Given the description of an element on the screen output the (x, y) to click on. 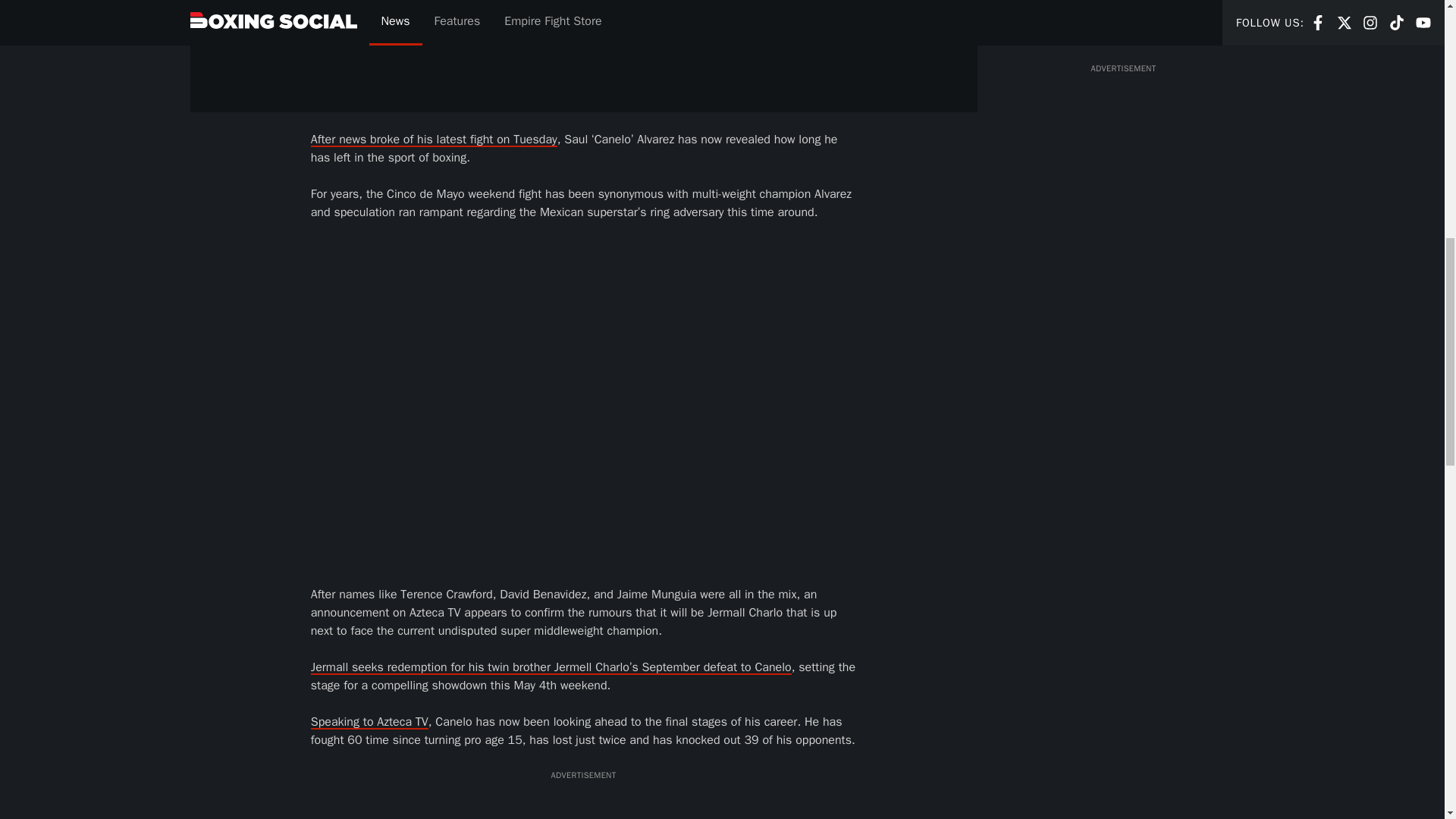
After news broke of his latest fight on Tuesday (434, 139)
Speaking to Azteca TV (369, 721)
SHOW MORE (1122, 26)
